Given the description of an element on the screen output the (x, y) to click on. 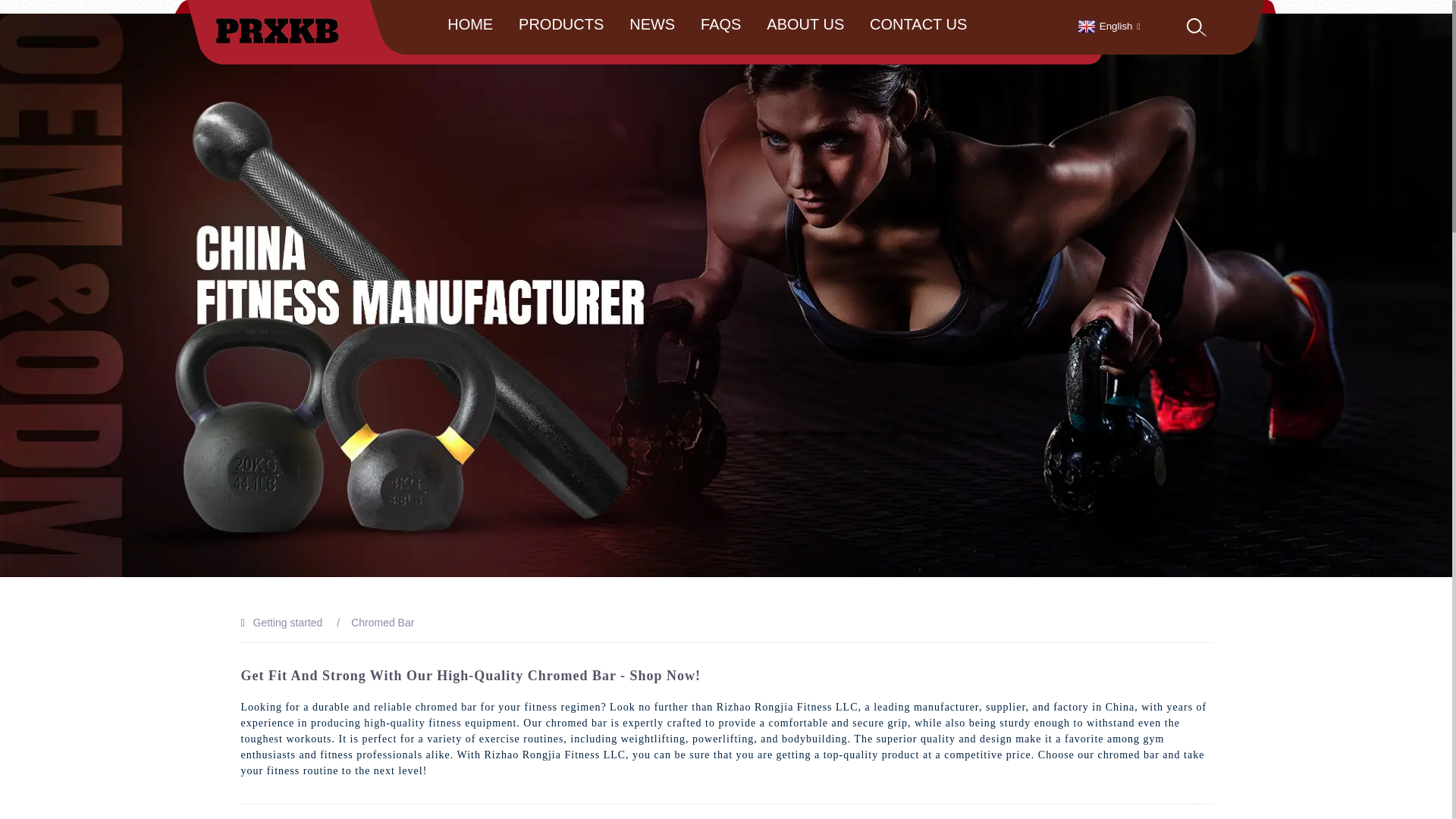
FAQS (720, 24)
PRODUCTS (561, 24)
Chromed Bar (381, 622)
ABOUT US (804, 24)
CONTACT US (917, 24)
English (1107, 25)
HOME (469, 24)
NEWS (651, 24)
Getting started (288, 622)
